Given the description of an element on the screen output the (x, y) to click on. 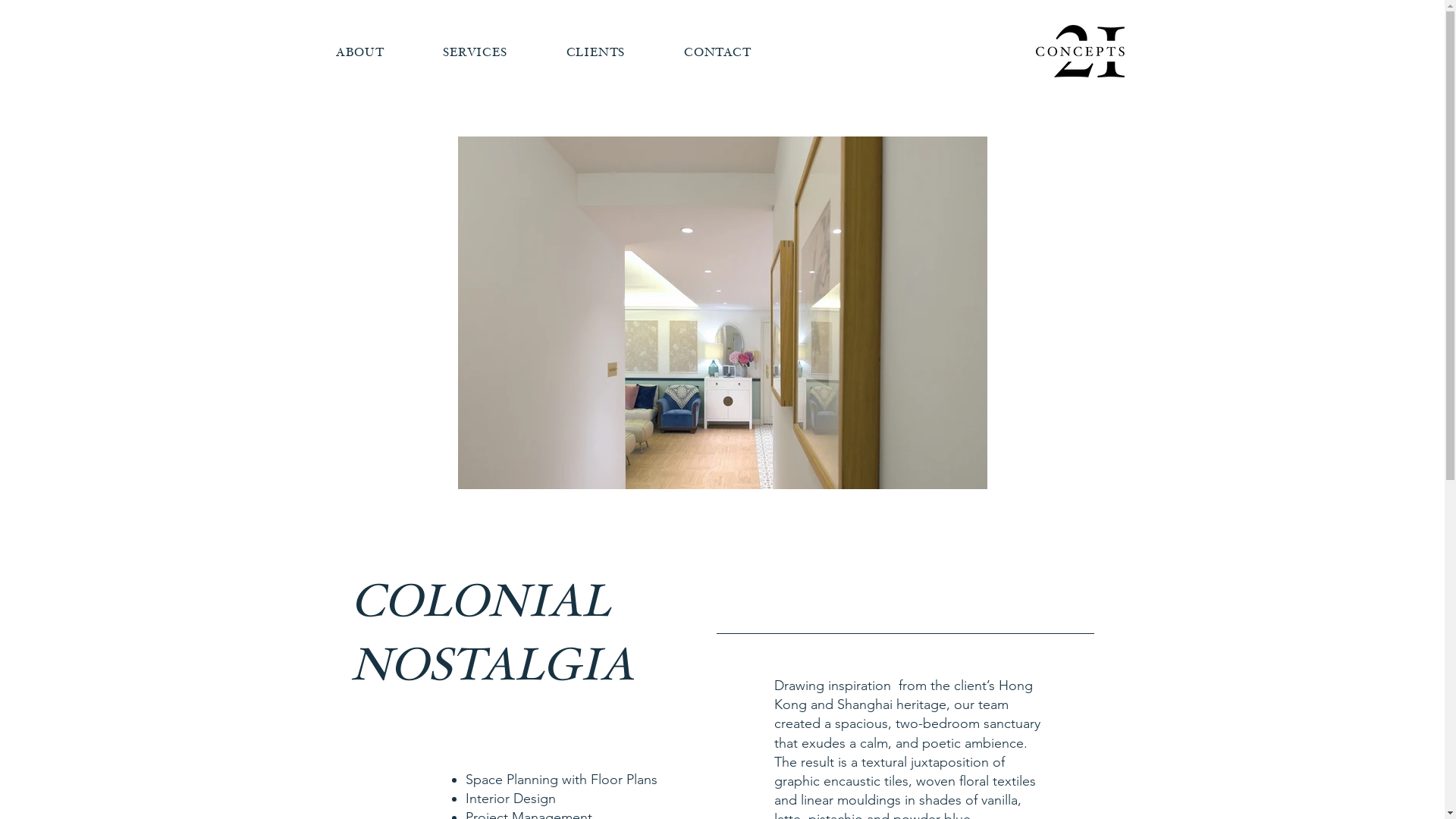
CLIENTS Element type: text (595, 52)
SERVICES Element type: text (474, 52)
ABOUT Element type: text (359, 52)
CONTACT Element type: text (717, 52)
